Given the description of an element on the screen output the (x, y) to click on. 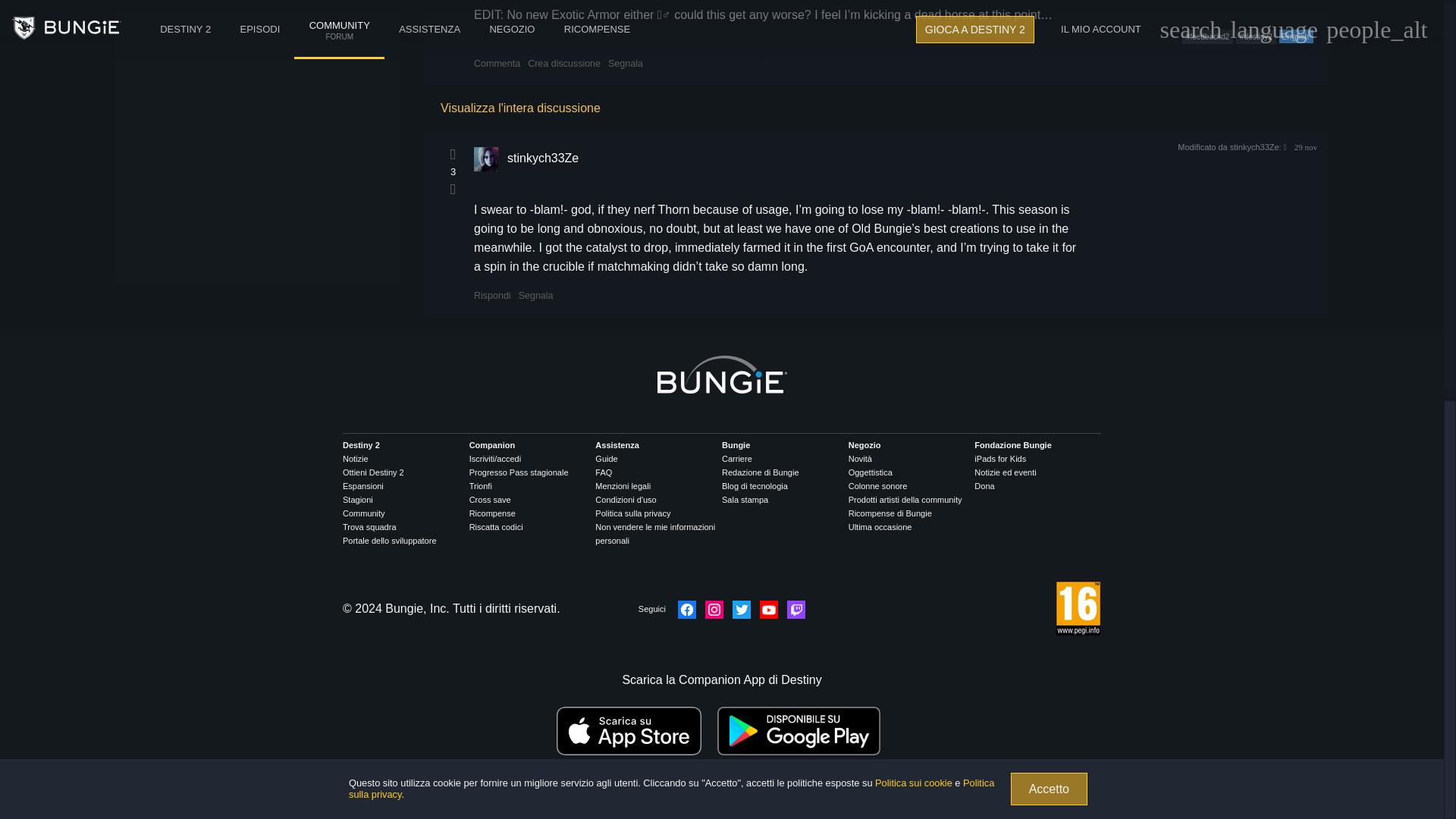
Segnala (625, 63)
Mi piace (453, 152)
Commenta (496, 63)
Crea discussione (563, 63)
Non mi piace (452, 190)
